Given the description of an element on the screen output the (x, y) to click on. 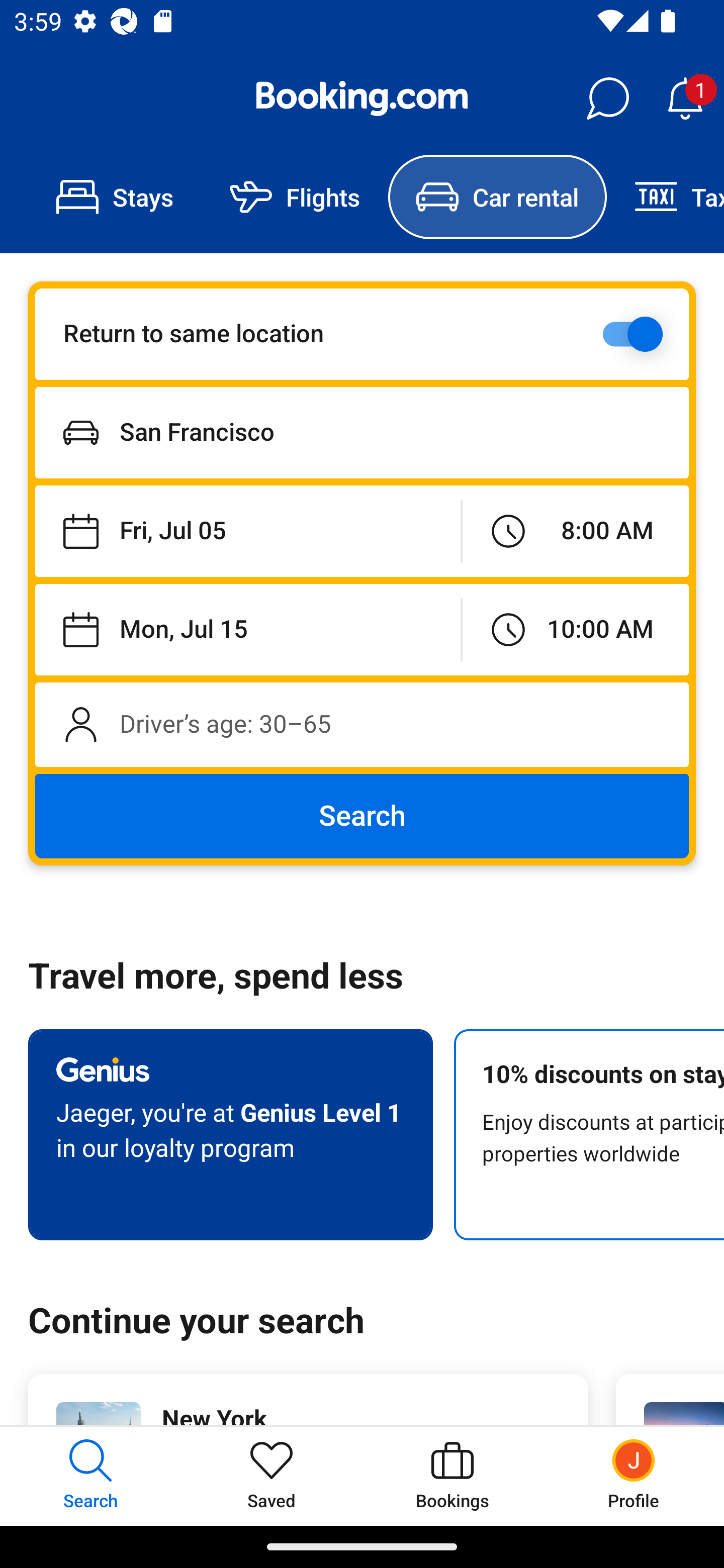
Messages (607, 98)
Notifications (685, 98)
Stays (114, 197)
Flights (294, 197)
Car rental (497, 197)
Taxi (665, 197)
Pick-up location: Text(name=San Francisco) (361, 432)
Pick-up date: 2024-07-05 (247, 531)
Pick-up time: 08:00:00.000 (575, 531)
Drop-off date: 2024-07-15 (247, 629)
Drop-off time: 10:00:00.000 (575, 629)
Enter the driver's age (361, 724)
Search (361, 815)
Saved (271, 1475)
Bookings (452, 1475)
Profile (633, 1475)
